Given the description of an element on the screen output the (x, y) to click on. 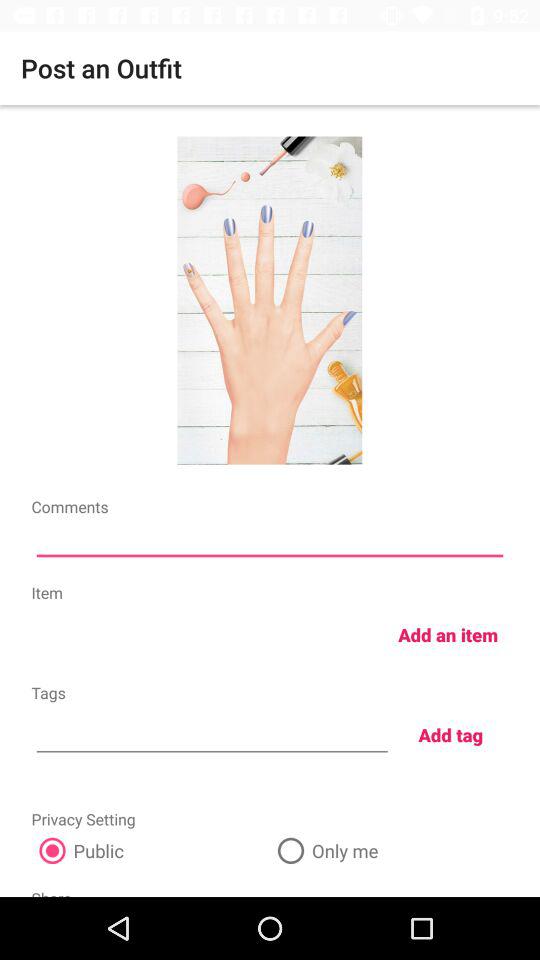
choose item on the right (447, 634)
